Given the description of an element on the screen output the (x, y) to click on. 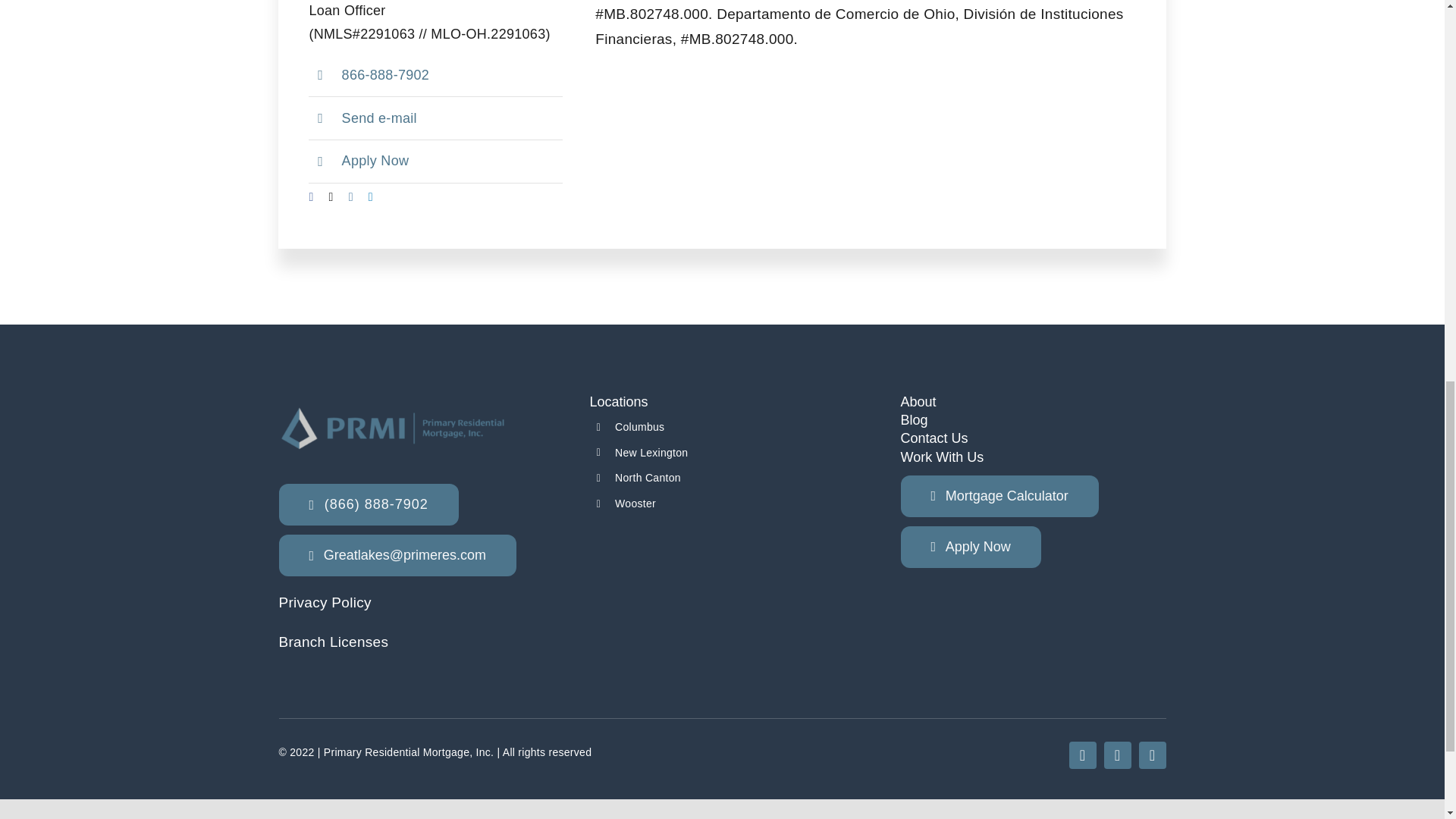
866-888-7902 (385, 74)
Branch Licenses (333, 641)
Privacy Policy (325, 602)
North Canton (647, 477)
Columbus (638, 426)
About (918, 401)
Apply Now (375, 160)
Send e-mail (379, 118)
Wooster (635, 503)
New Lexington (650, 452)
